Given the description of an element on the screen output the (x, y) to click on. 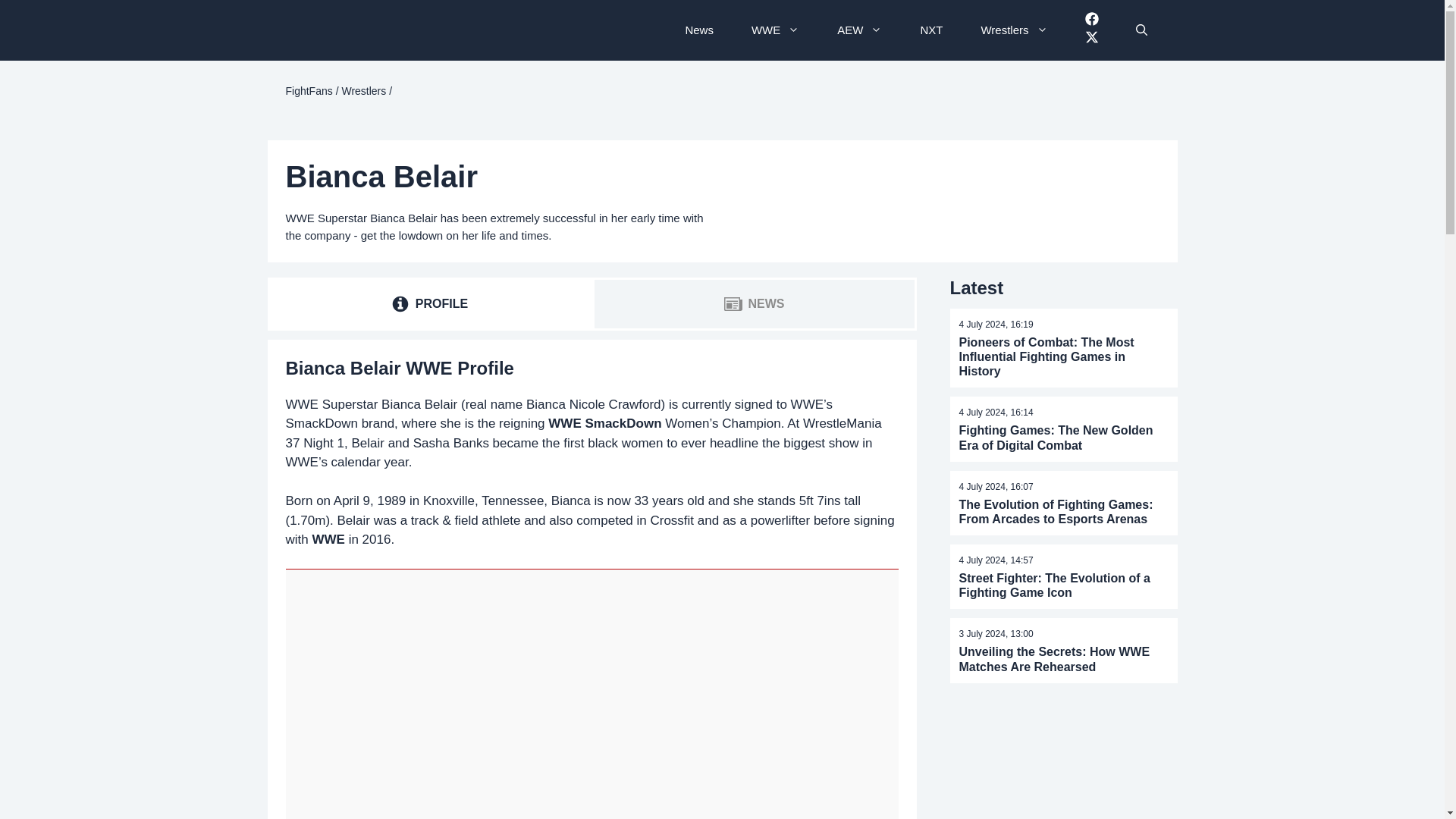
FightFans (308, 91)
NEWSPAPER (732, 303)
Wrestlers (362, 91)
Wrestlers (1012, 30)
INFO-CIRCLE (428, 303)
NXT (400, 303)
AEW (930, 30)
WWE (859, 30)
News (775, 30)
